Given the description of an element on the screen output the (x, y) to click on. 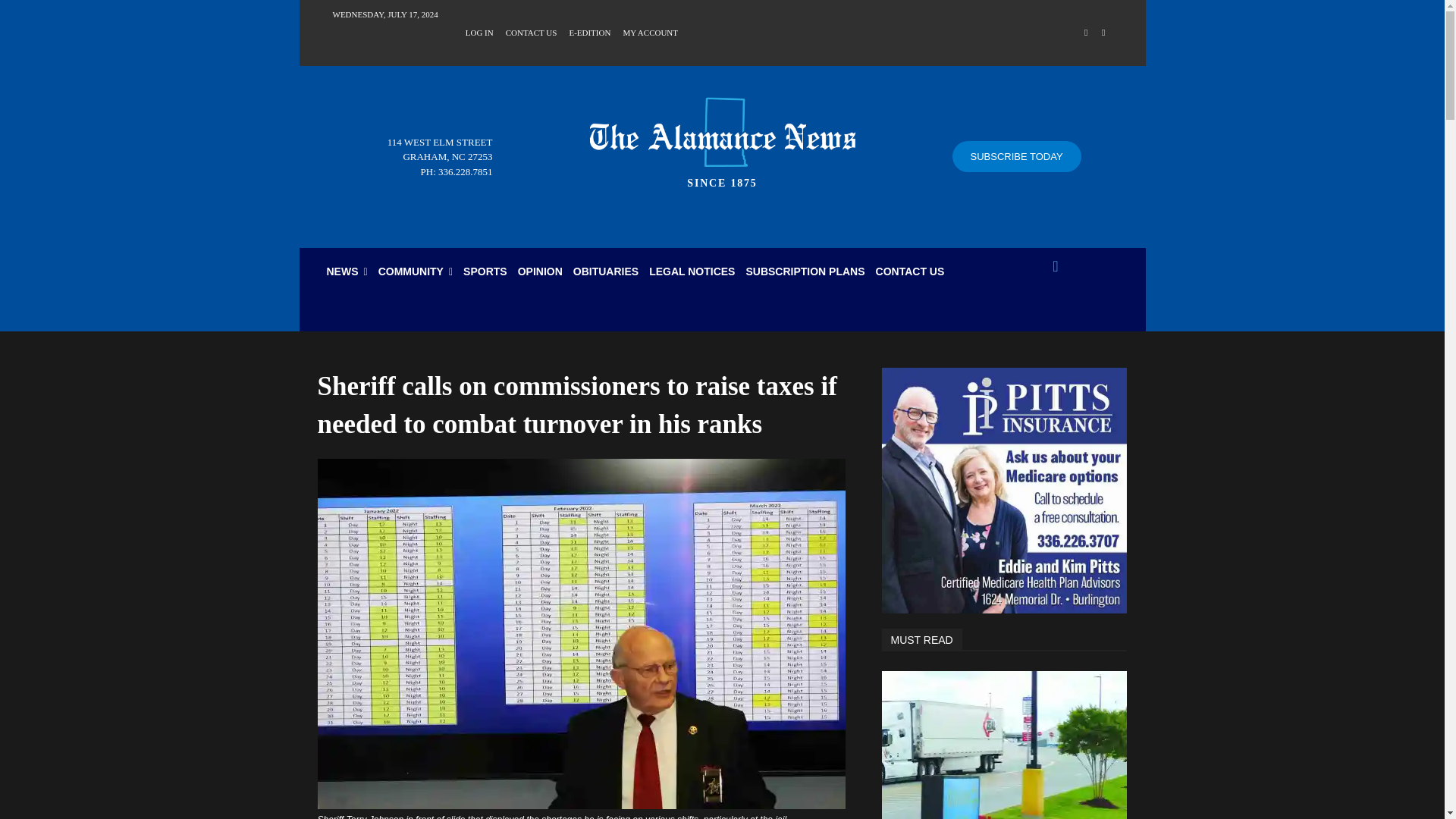
Facebook (1085, 32)
SINCE 1875 (722, 138)
SUBSCRIBE TODAY (1016, 155)
NEWS (346, 271)
Twitter (1103, 32)
LOG IN (479, 31)
E-EDITION (589, 31)
SUBSCRIBE TODAY (1016, 155)
The Alamance News Logo (722, 138)
MY ACCOUNT (650, 31)
CONTACT US (531, 31)
COMMUNITY (415, 271)
The Alamance News Logo (722, 132)
